Given the description of an element on the screen output the (x, y) to click on. 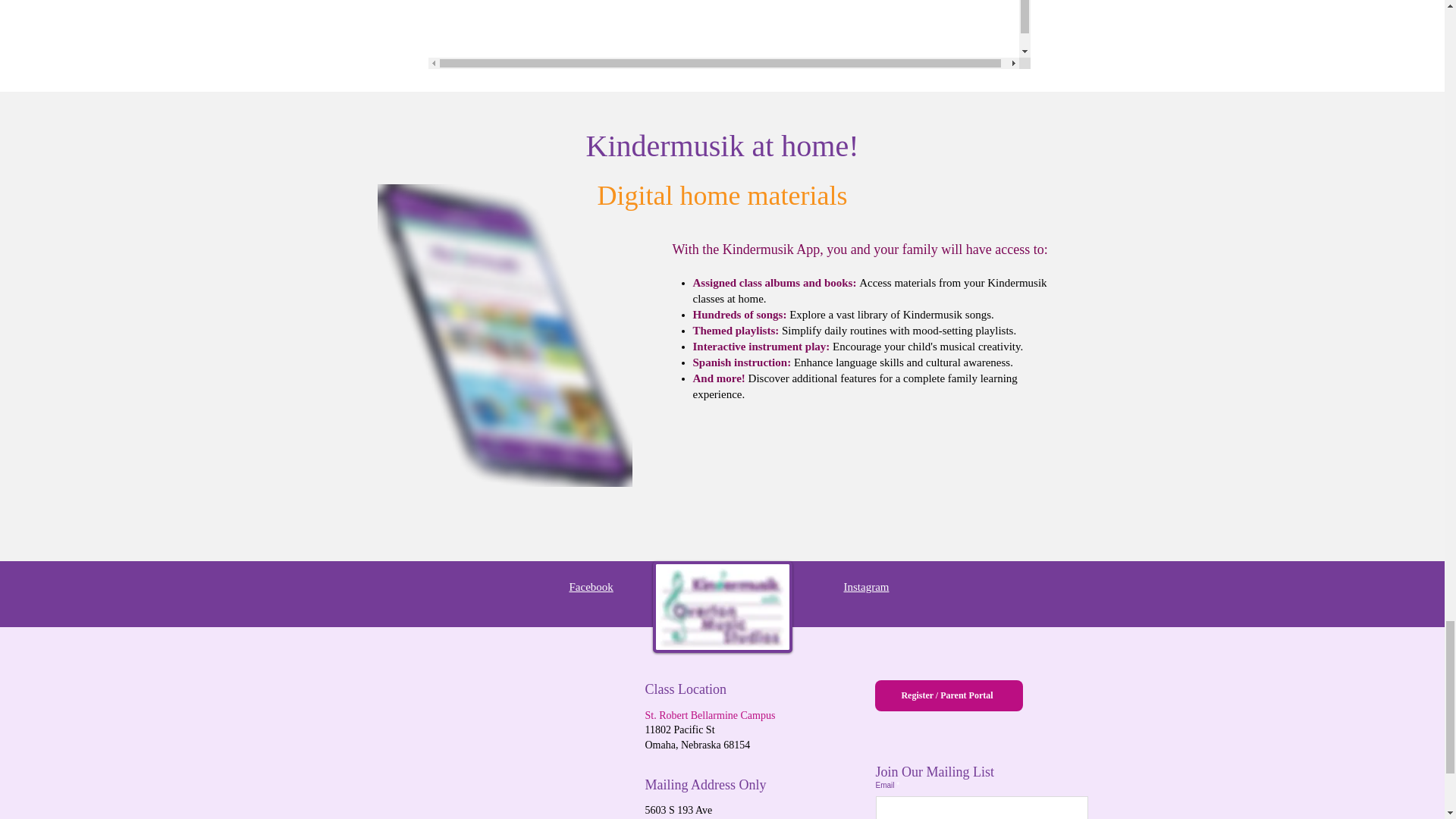
Embedded Content (728, 34)
Facebook (590, 586)
Google Maps (489, 749)
Instagram (865, 586)
